Given the description of an element on the screen output the (x, y) to click on. 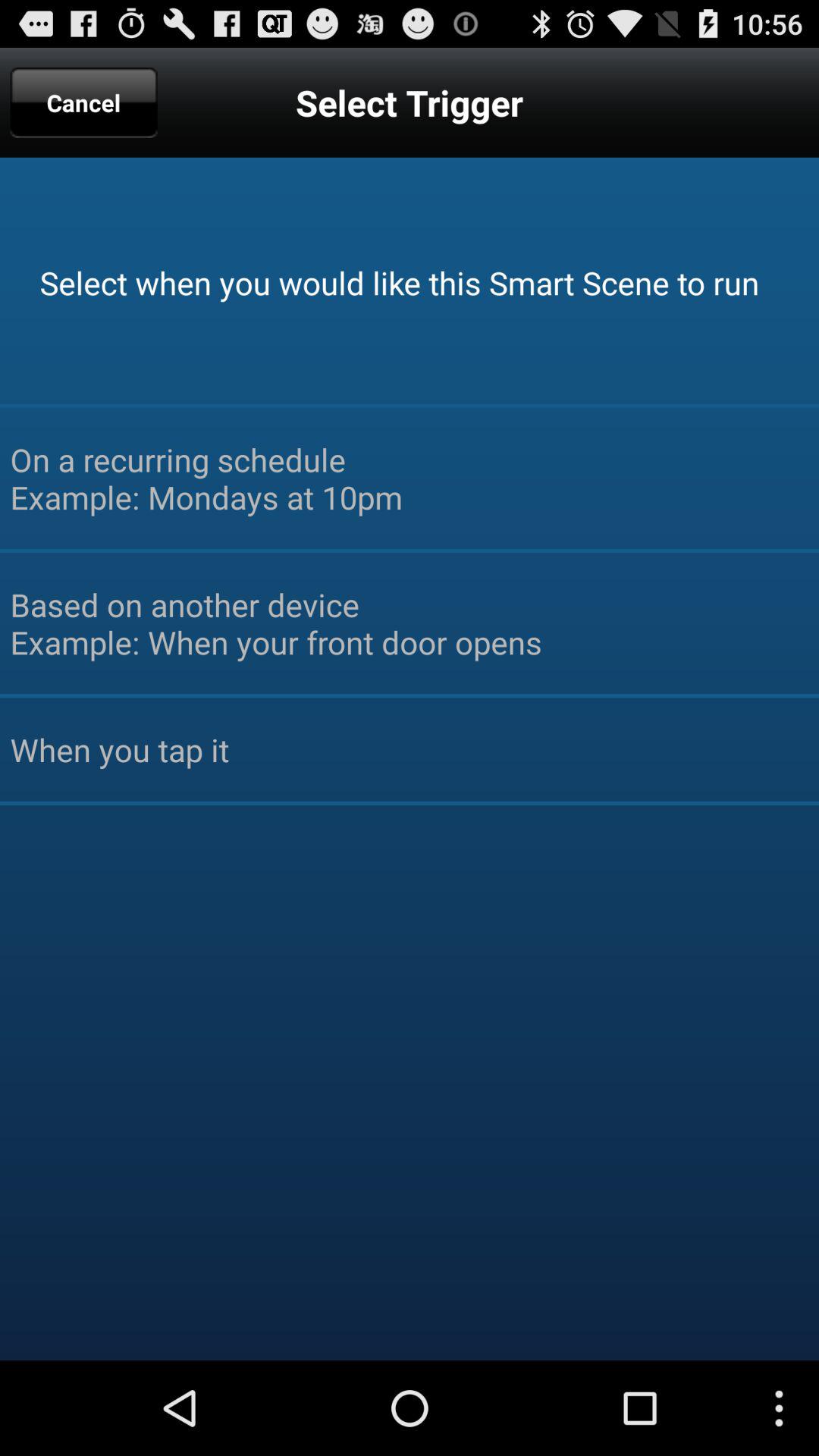
tap icon next to the select trigger app (83, 102)
